Given the description of an element on the screen output the (x, y) to click on. 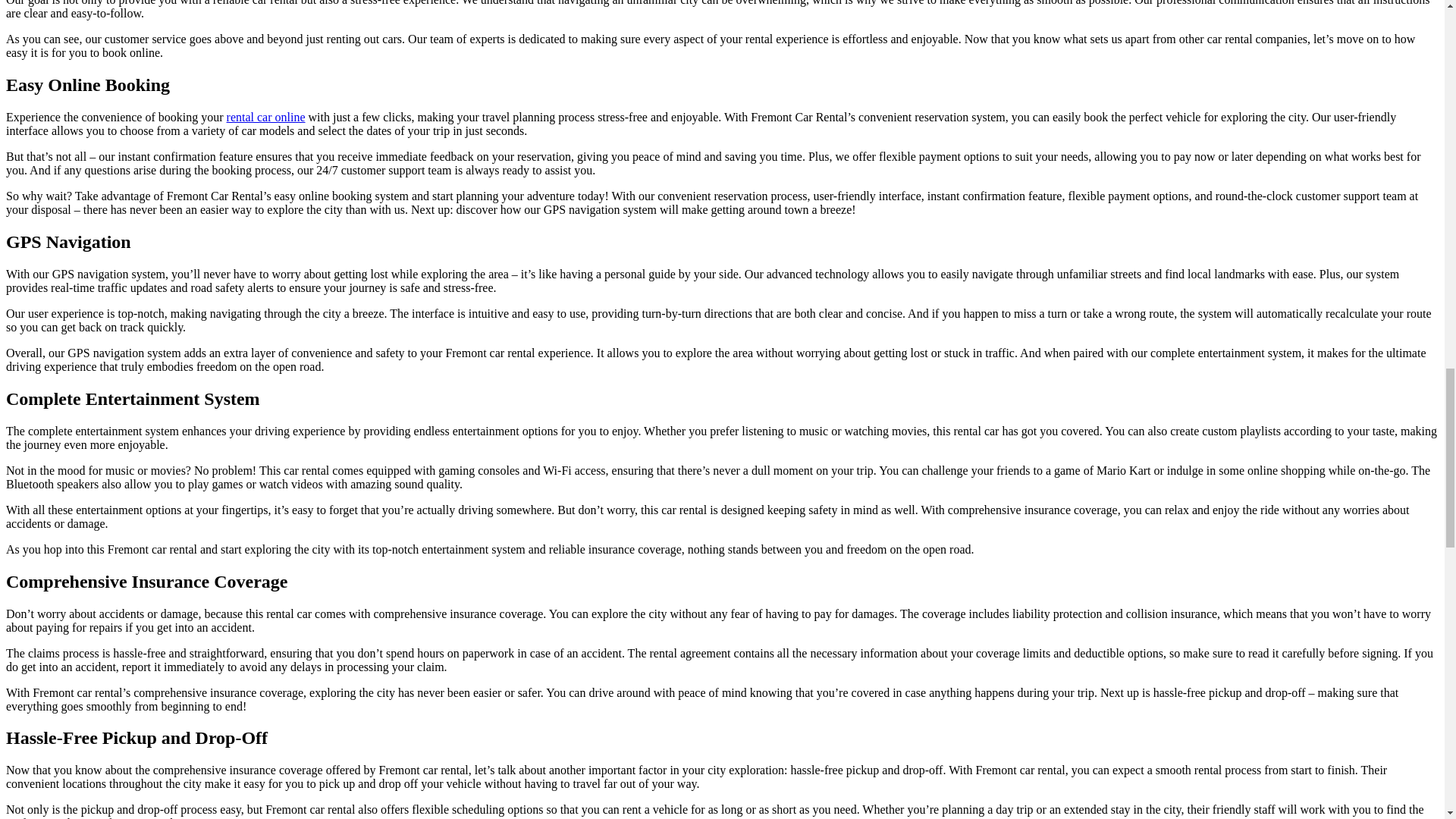
rental car online (266, 116)
